Given the description of an element on the screen output the (x, y) to click on. 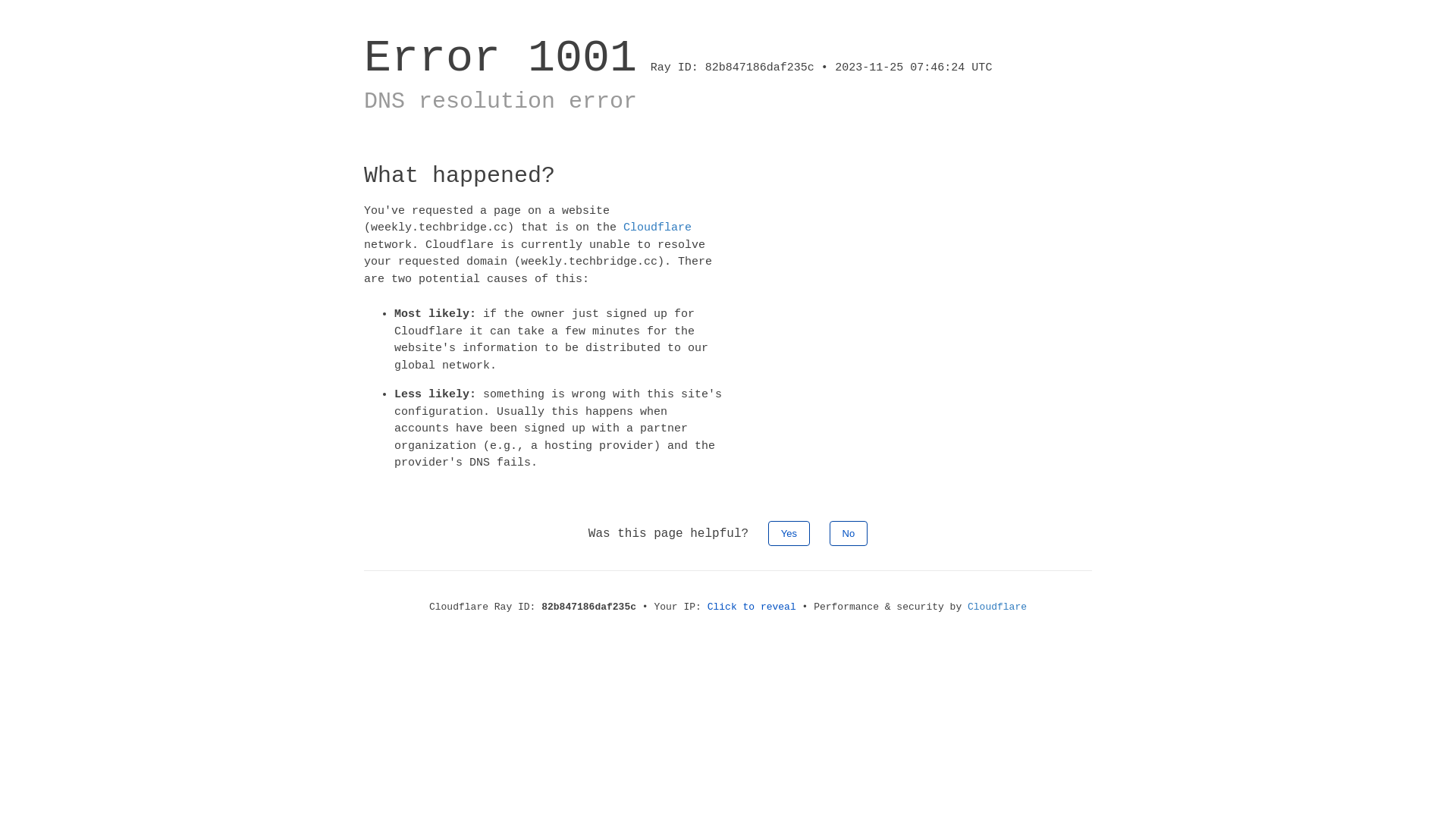
Cloudflare Element type: text (996, 605)
Cloudflare Element type: text (657, 227)
Yes Element type: text (788, 532)
Click to reveal Element type: text (751, 605)
No Element type: text (848, 532)
